Given the description of an element on the screen output the (x, y) to click on. 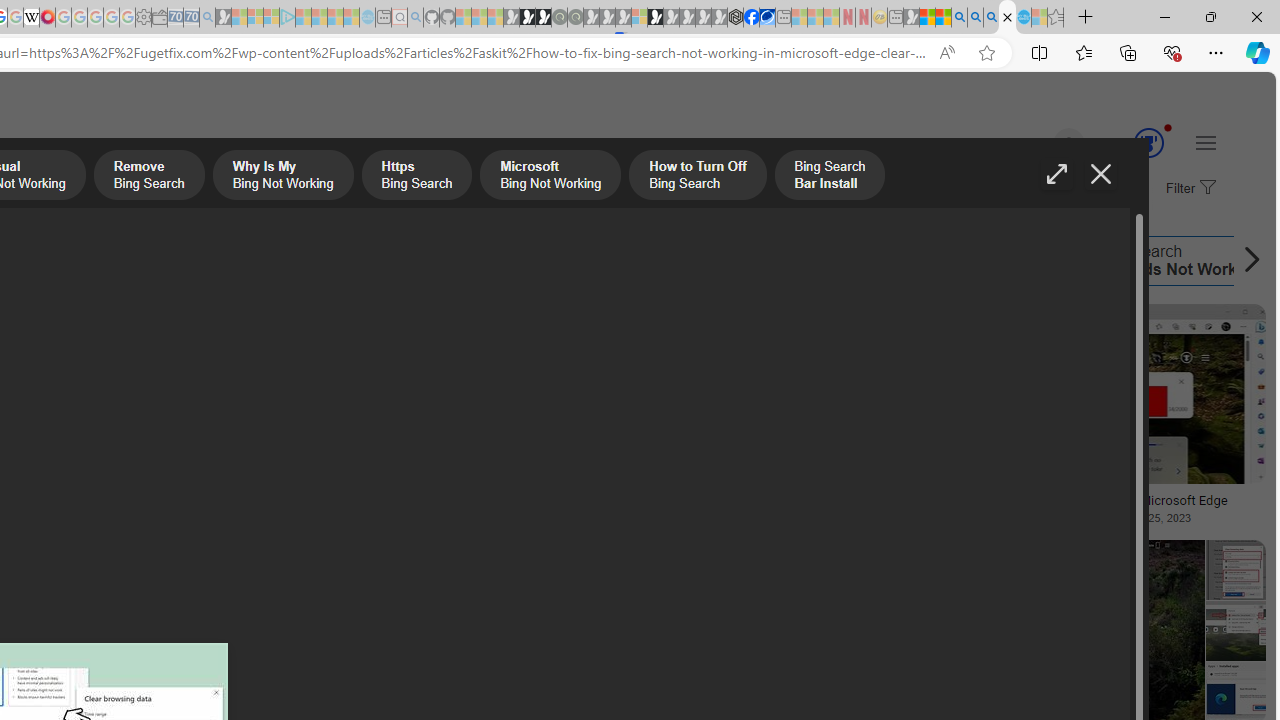
Eugene (1041, 143)
Services - Maintenance | Sky Blue Bikes - Sky Blue Bikes (1023, 17)
Animation (1167, 127)
Play Zoo Boom in your browser | Games from Microsoft Start (527, 17)
Home | Sky Blue Bikes - Sky Blue Bikes - Sleeping (367, 17)
